Given the description of an element on the screen output the (x, y) to click on. 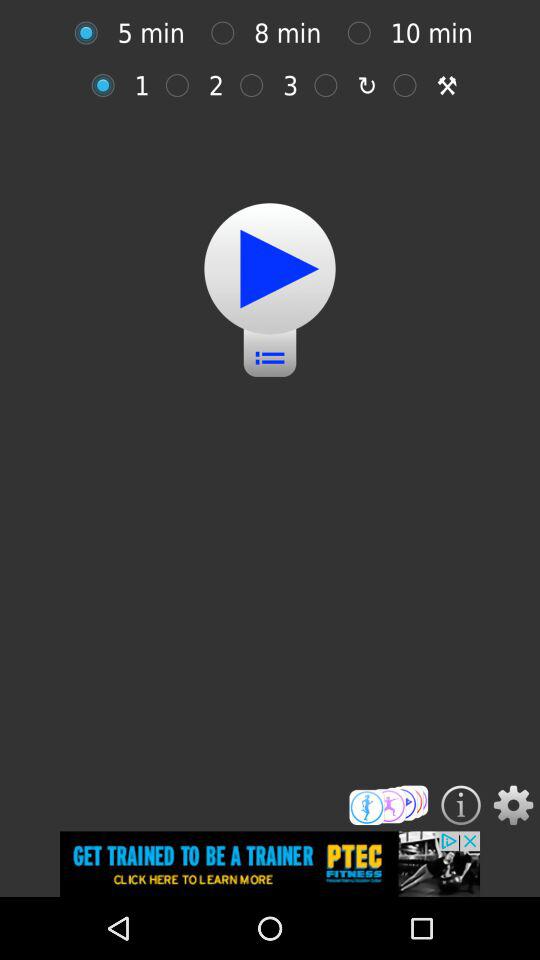
change length to 10 minutes (364, 32)
